Given the description of an element on the screen output the (x, y) to click on. 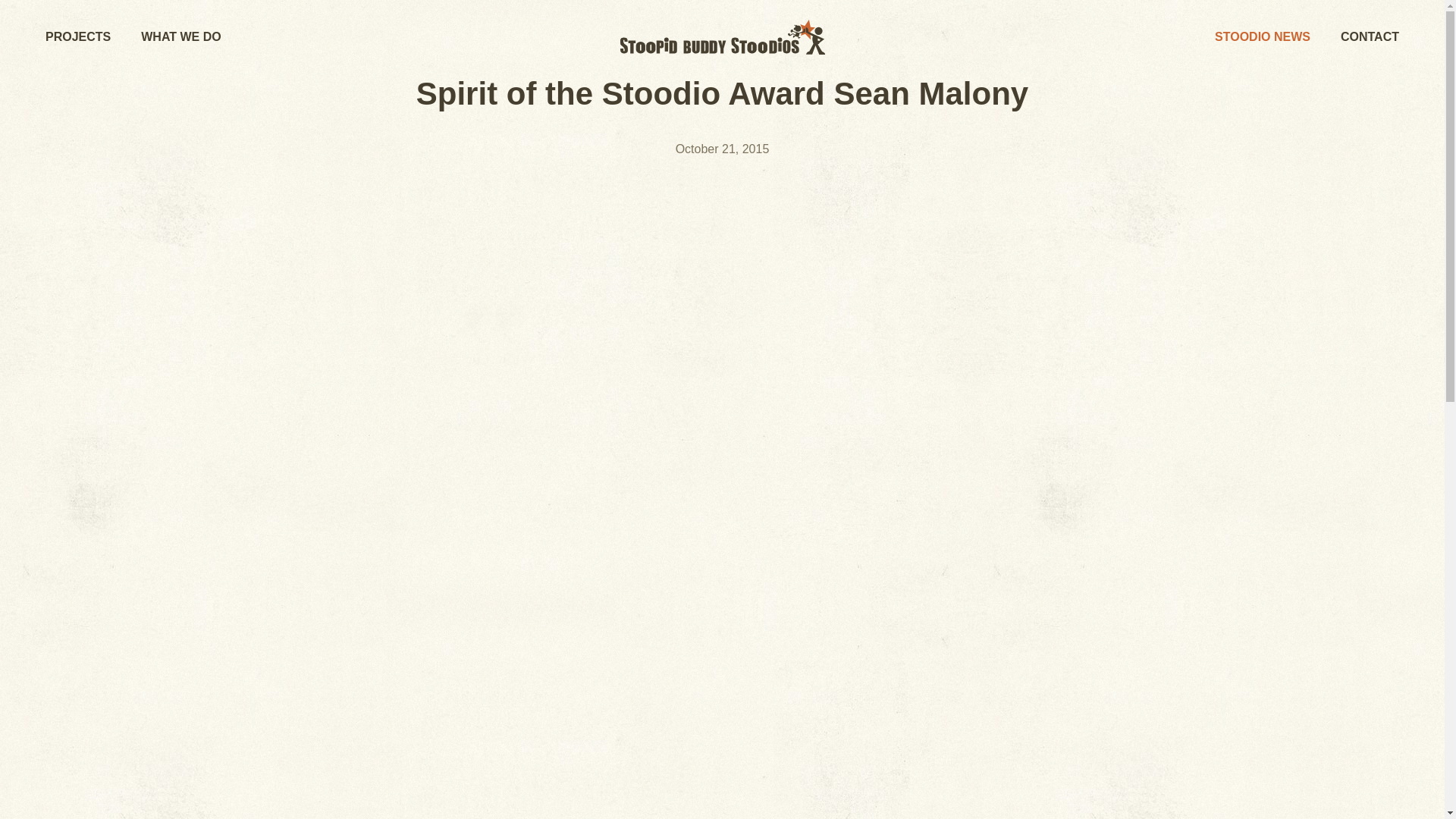
STOODIO NEWS (1262, 36)
PROJECTS (77, 36)
CONTACT (1369, 36)
WHAT WE DO (181, 36)
